Given the description of an element on the screen output the (x, y) to click on. 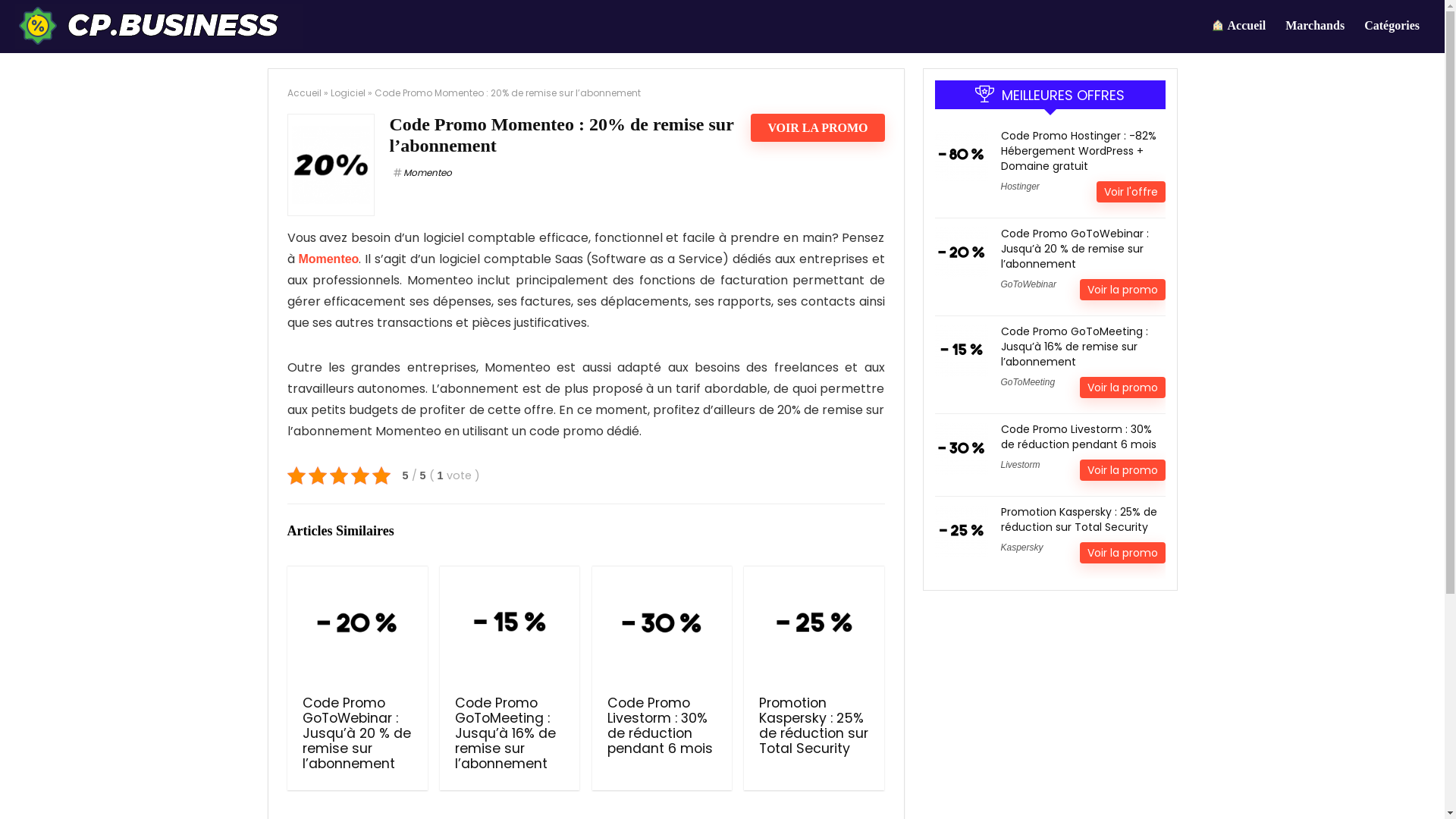
Voir la promo Element type: text (1122, 552)
Kaspersky Element type: text (1022, 547)
Voir la promo Element type: text (1122, 387)
Livestorm Element type: text (1020, 464)
Accueil Element type: text (1238, 26)
Voir la promo Element type: text (1122, 289)
GoToWebinar Element type: text (1028, 284)
Voir la promo Element type: text (1122, 469)
Momenteo Element type: text (421, 172)
VOIR LA PROMO Element type: text (817, 127)
Voir l'offre Element type: text (1130, 191)
GoToMeeting Element type: text (1028, 381)
Accueil Element type: text (303, 92)
Momenteo Element type: text (328, 258)
Logiciel Element type: text (347, 92)
Hostinger Element type: text (1020, 186)
Marchands Element type: text (1314, 26)
